Given the description of an element on the screen output the (x, y) to click on. 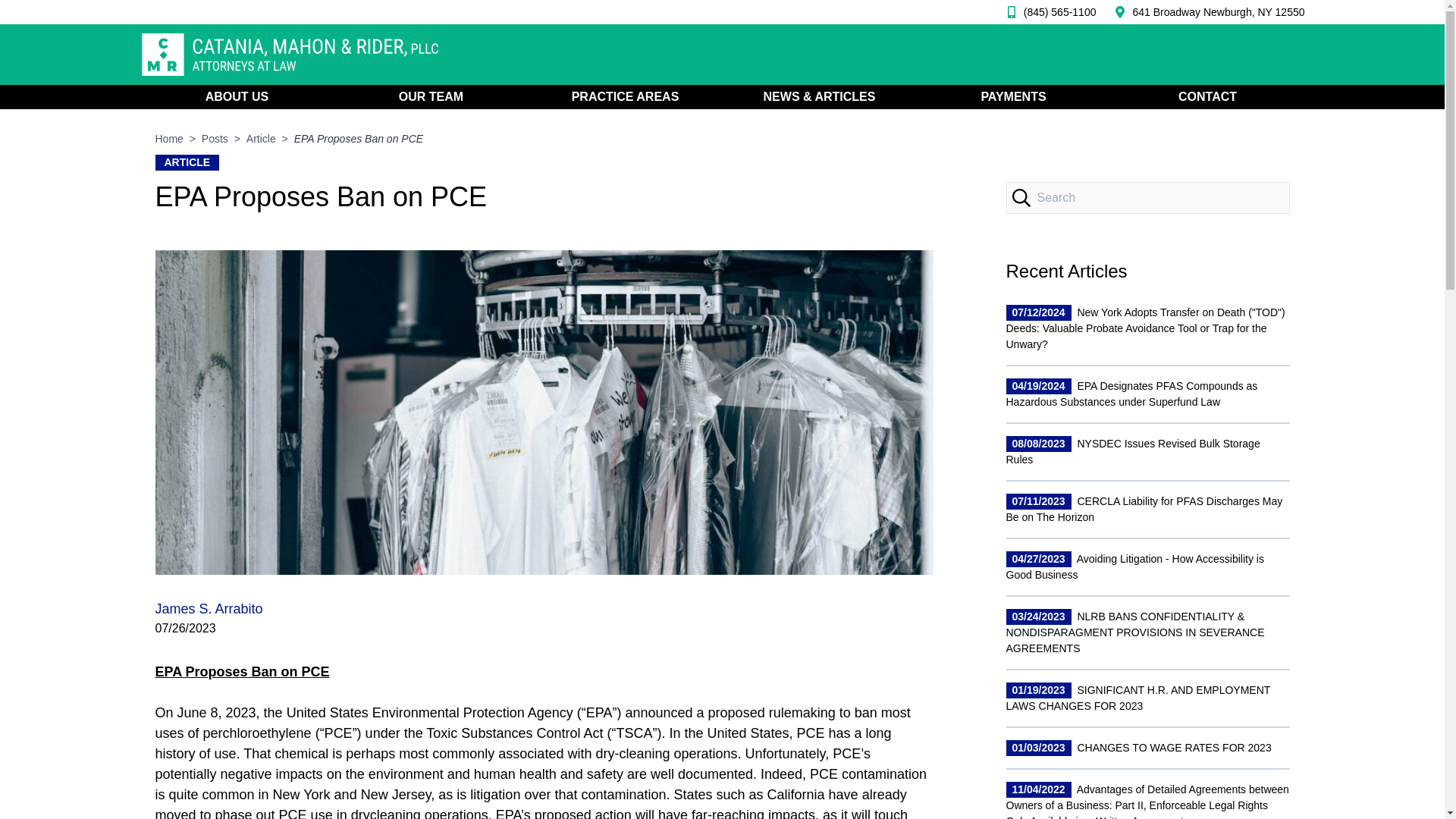
James S. Arrabito (208, 607)
CMR Phone Number (1218, 12)
641 Broadway Newburgh, NY 12550 (1218, 12)
OUR TEAM (430, 96)
ABOUT US (236, 96)
Home (168, 138)
CMR Phone Number (1047, 12)
PAYMENTS (1012, 96)
CONTACT (1206, 96)
Posts (215, 138)
